Given the description of an element on the screen output the (x, y) to click on. 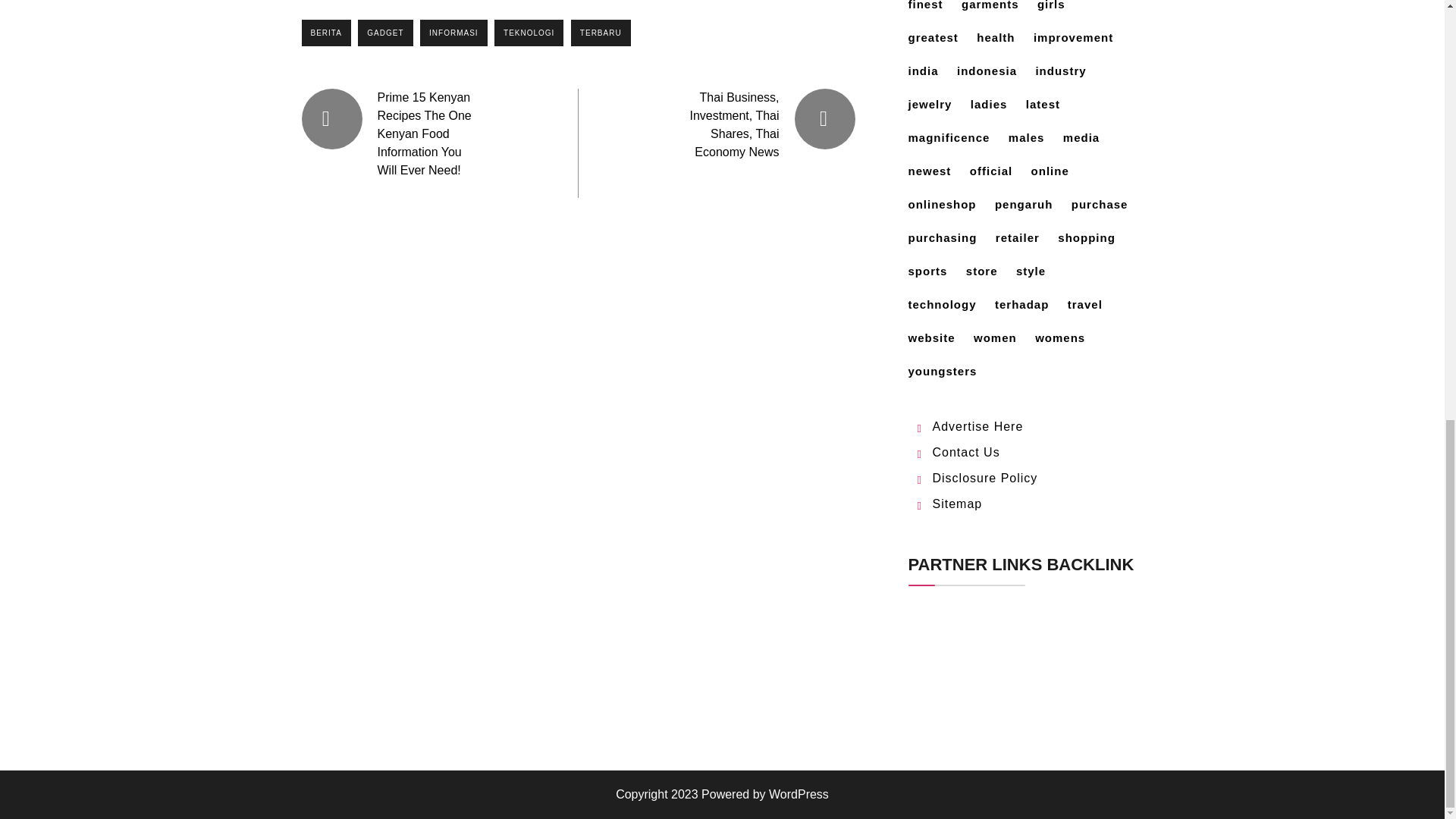
GADGET (385, 32)
INFORMASI (453, 32)
TEKNOLOGI (529, 32)
Thai Business, Investment, Thai Shares, Thai Economy News (734, 124)
TERBARU (600, 32)
BERITA (325, 32)
